Given the description of an element on the screen output the (x, y) to click on. 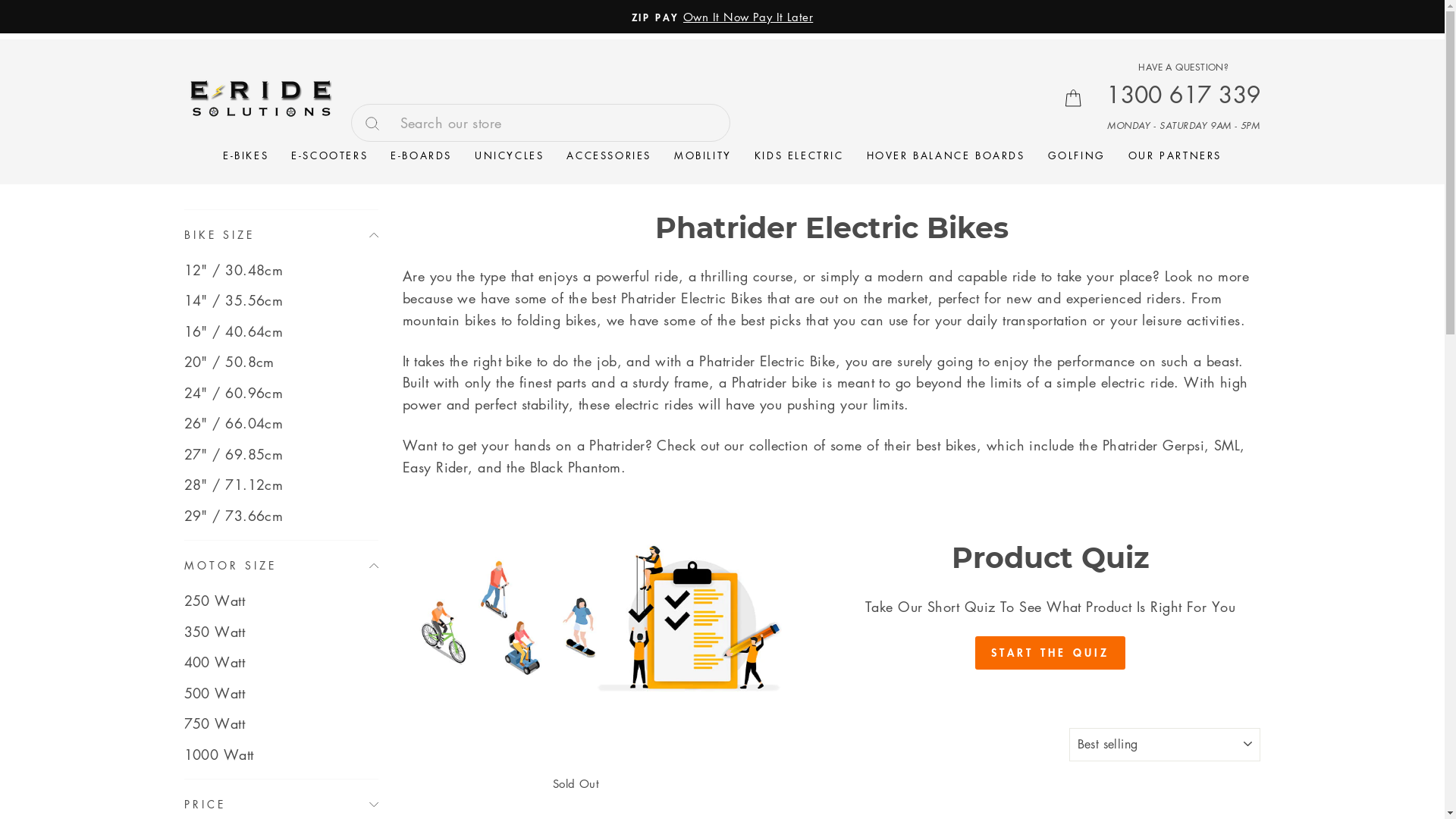
OUR PARTNERS Element type: text (1175, 155)
UNICYCLES Element type: text (509, 155)
26" / 66.04cm Element type: text (280, 422)
500 Watt Element type: text (280, 692)
24" / 60.96cm Element type: text (280, 392)
350 Watt Element type: text (280, 631)
250 Watt Element type: text (280, 600)
MOTOR SIZE Element type: text (280, 565)
BIKE SIZE Element type: text (280, 234)
20" / 50.8cm Element type: text (280, 361)
MOBILITY Element type: text (702, 155)
14" / 35.56cm Element type: text (280, 299)
HOVER BALANCE BOARDS Element type: text (945, 155)
Search Element type: text (377, 122)
E-BOARDS Element type: text (421, 155)
GOLFING Element type: text (1076, 155)
400 Watt Element type: text (280, 661)
START THE QUIZ Element type: text (1050, 652)
750 Watt Element type: text (280, 723)
E-BIKES Element type: text (245, 155)
29" / 73.66cm Element type: text (280, 515)
ZIP PAYOwn It Now Pay It Later Element type: text (722, 16)
ACCESSORIES Element type: text (608, 155)
HAVE A QUESTION?
1300 617 339
MONDAY - SATURDAY 9AM - 5PM Element type: text (1183, 94)
Skip to content Element type: text (0, 0)
CART Element type: text (1072, 97)
16" / 40.64cm Element type: text (280, 331)
E-SCOOTERS Element type: text (329, 155)
12" / 30.48cm Element type: text (280, 269)
1000 Watt Element type: text (280, 754)
27" / 69.85cm Element type: text (280, 453)
28" / 71.12cm Element type: text (280, 484)
KIDS ELECTRIC Element type: text (799, 155)
